Given the description of an element on the screen output the (x, y) to click on. 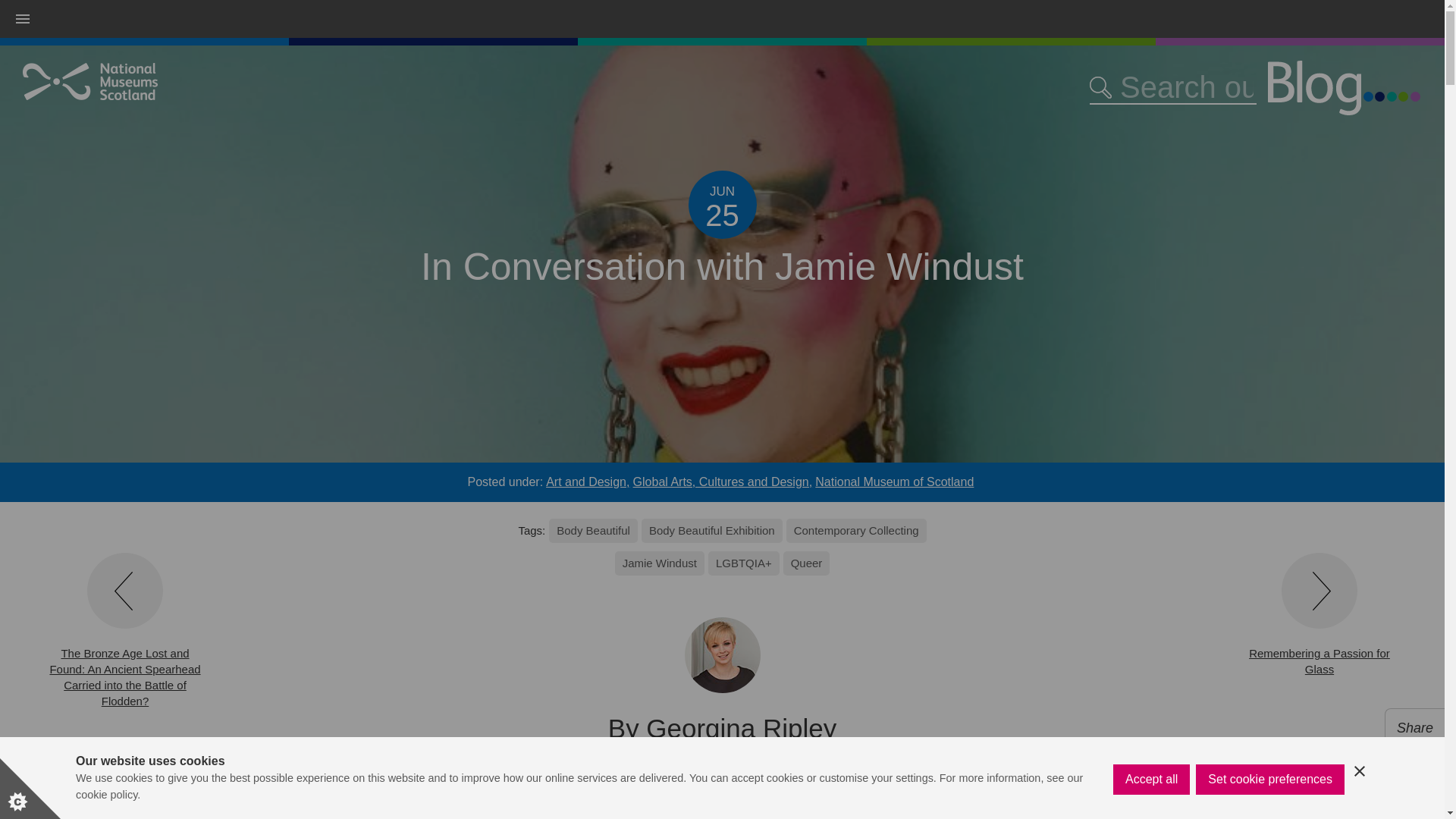
Body Beautiful Exhibition (711, 530)
Queer (806, 562)
Art and Design, (587, 481)
Set cookie preferences (1269, 812)
Remembering a Passion for Glass (1319, 614)
Global Arts, Cultures and Design, (722, 481)
Georgina Ripley (740, 727)
View all posts in National Museum of Scotland (894, 481)
FRUITCAKE (718, 805)
View all posts in Global Arts, Cultures and Design (722, 481)
National Museum of Scotland (894, 481)
Jamie Windust (660, 562)
Body Beautiful (593, 530)
View all posts in Art and Design (587, 481)
